Given the description of an element on the screen output the (x, y) to click on. 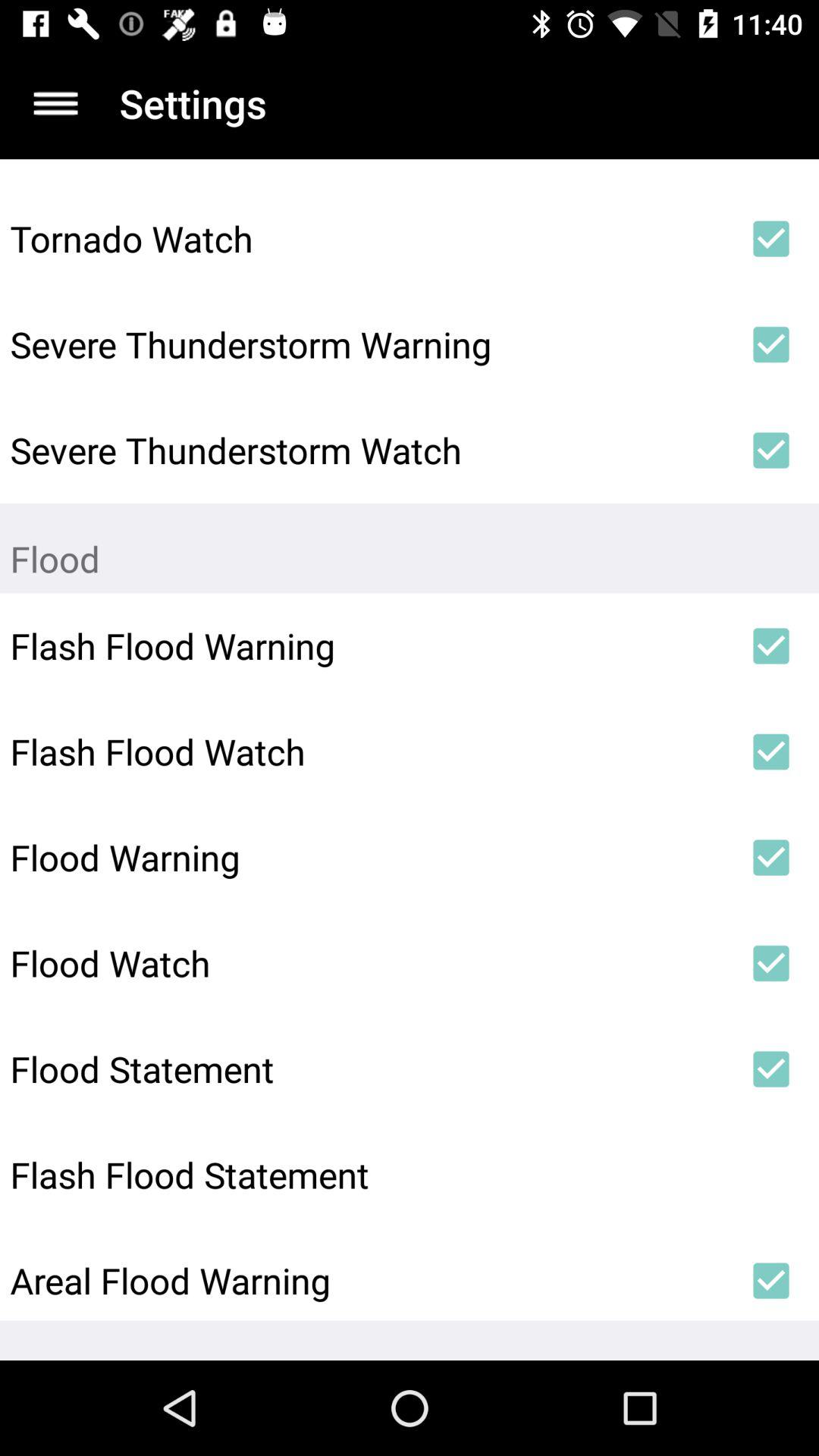
open the menu (55, 103)
